Given the description of an element on the screen output the (x, y) to click on. 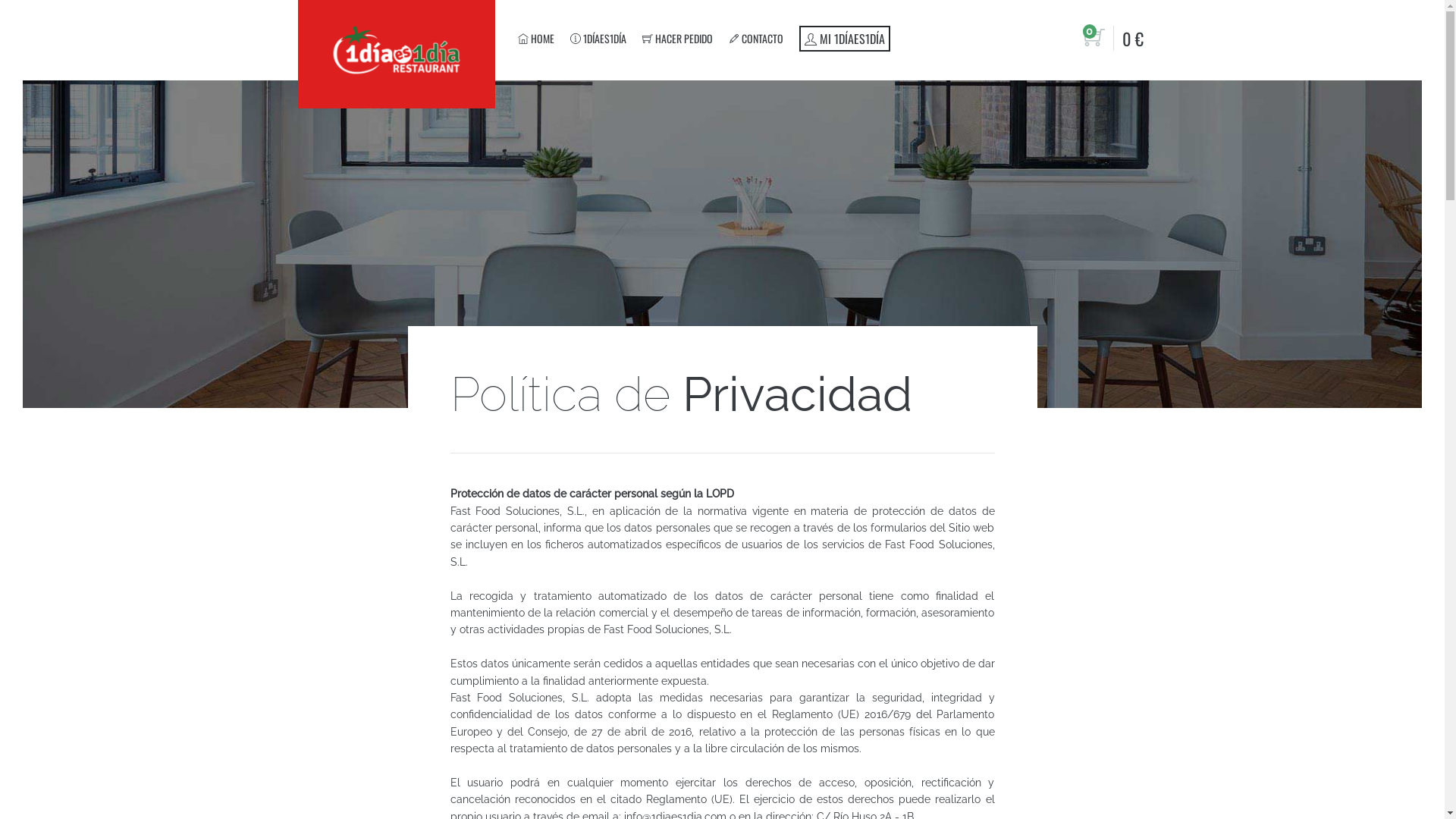
 CONTACTO Element type: text (755, 38)
 HACER PEDIDO Element type: text (676, 38)
 HOME Element type: text (535, 38)
